Given the description of an element on the screen output the (x, y) to click on. 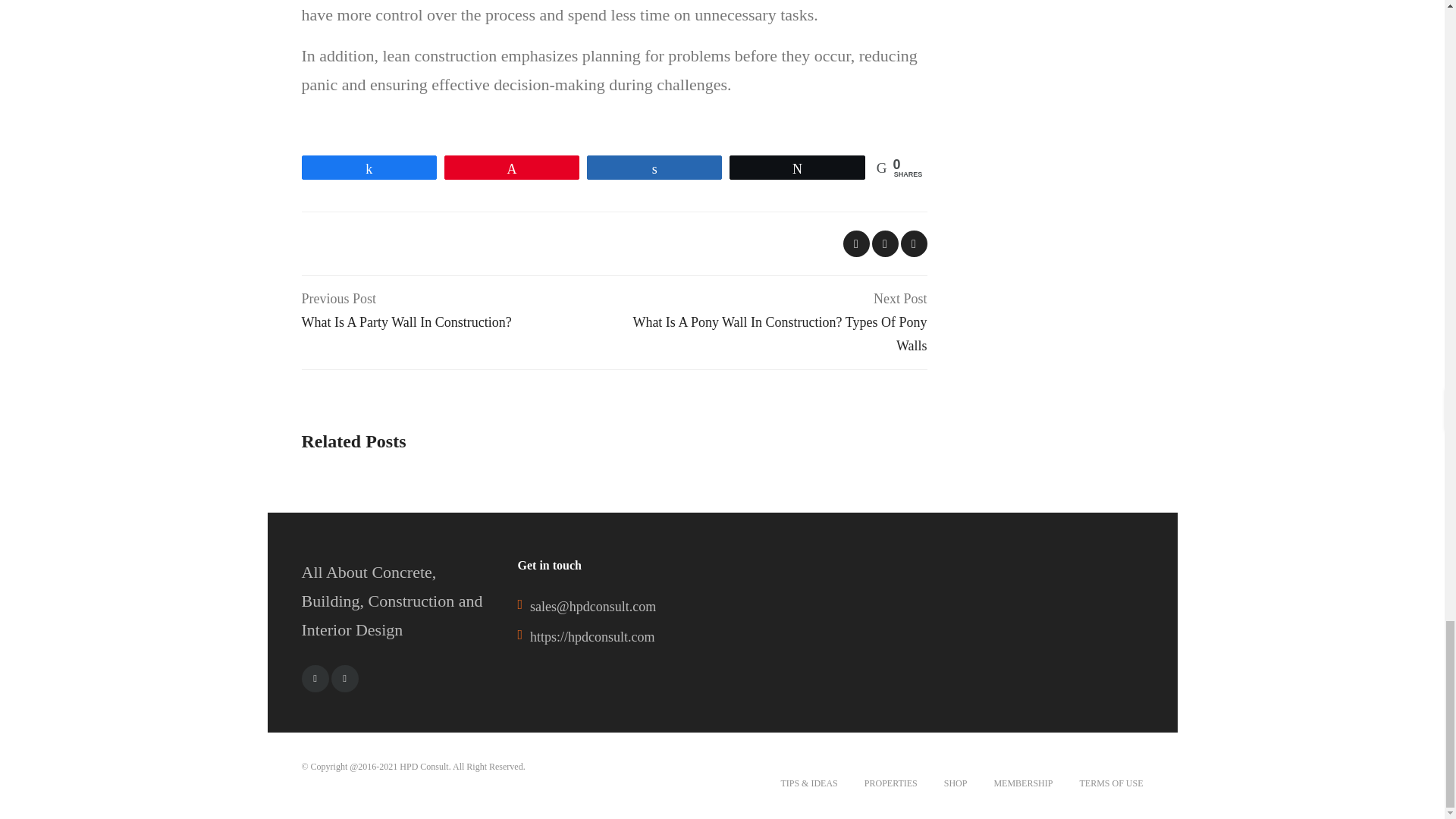
Facebook (457, 310)
Twitter (315, 678)
